Given the description of an element on the screen output the (x, y) to click on. 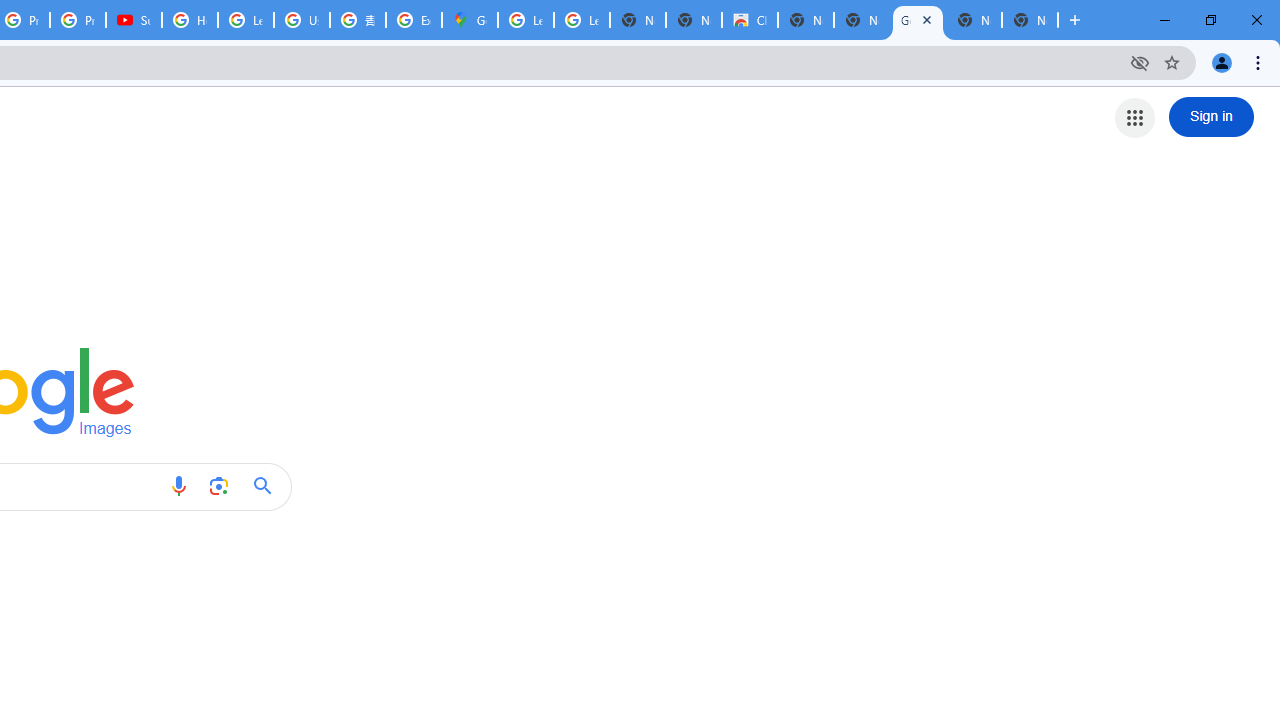
Explore new street-level details - Google Maps Help (413, 20)
New Tab (1030, 20)
Google Images (917, 20)
How Chrome protects your passwords - Google Chrome Help (189, 20)
Subscriptions - YouTube (134, 20)
Chrome Web Store (749, 20)
